Given the description of an element on the screen output the (x, y) to click on. 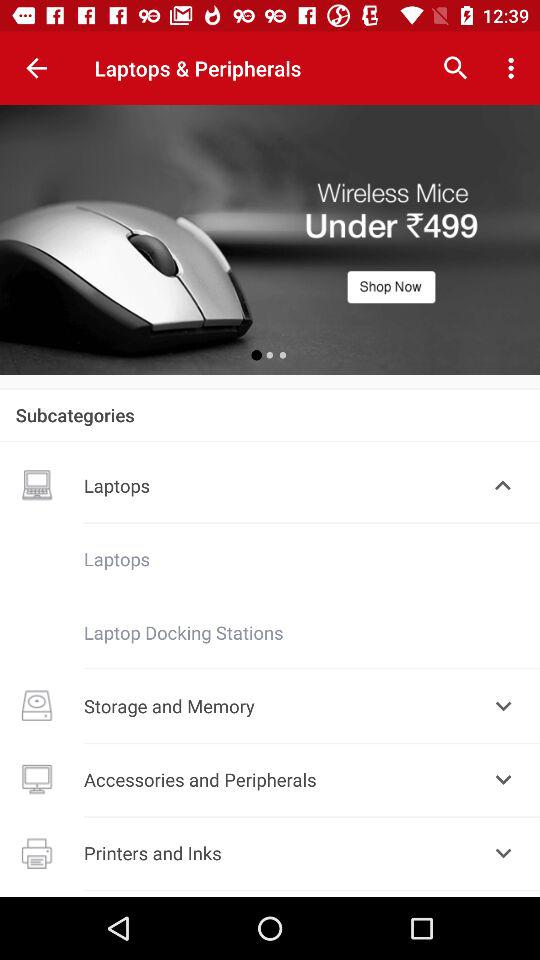
click the icon at the top left corner (36, 68)
